Given the description of an element on the screen output the (x, y) to click on. 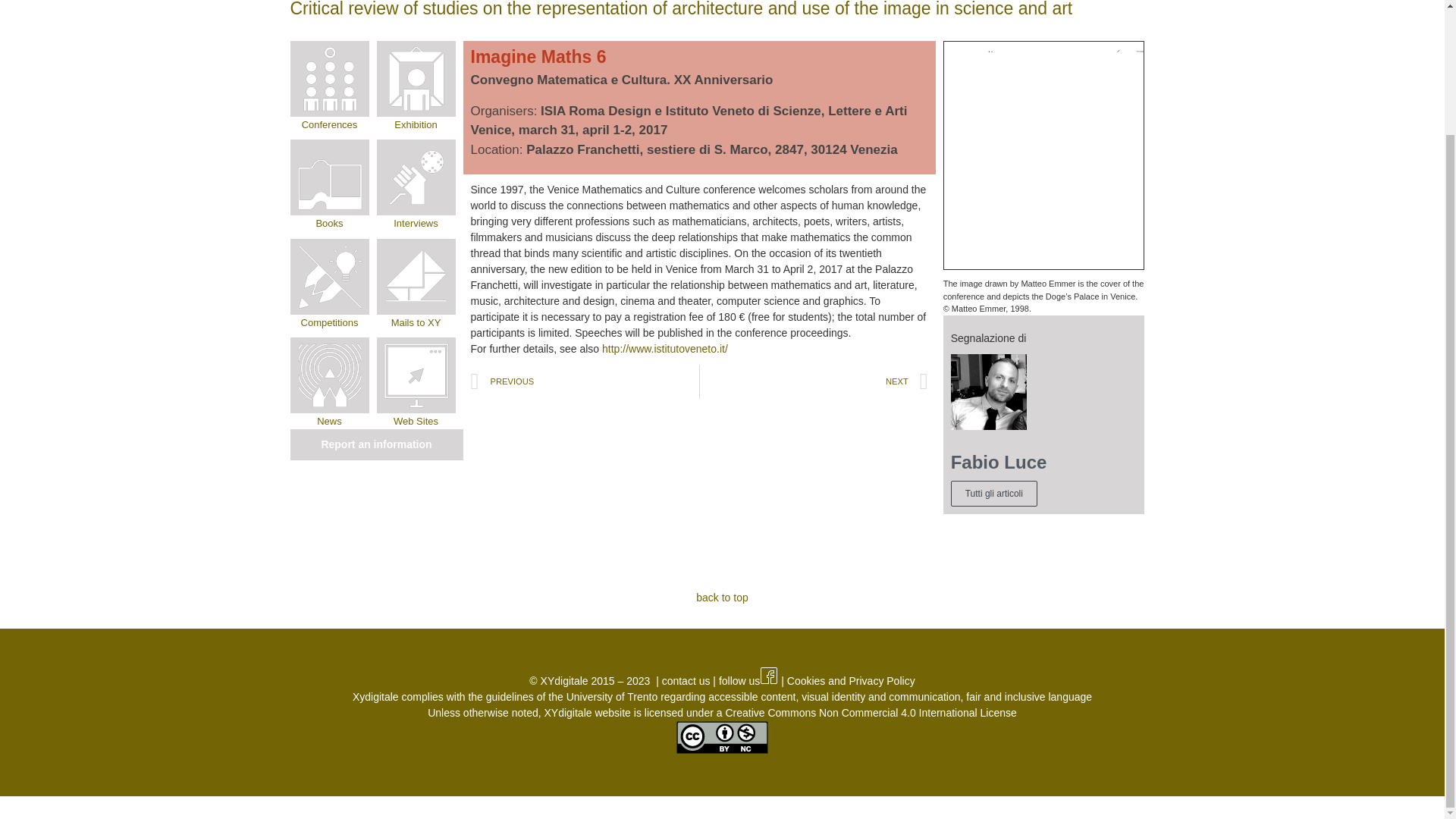
Licenza Creative Commons (870, 712)
Licenza Creative Commons (722, 749)
